Given the description of an element on the screen output the (x, y) to click on. 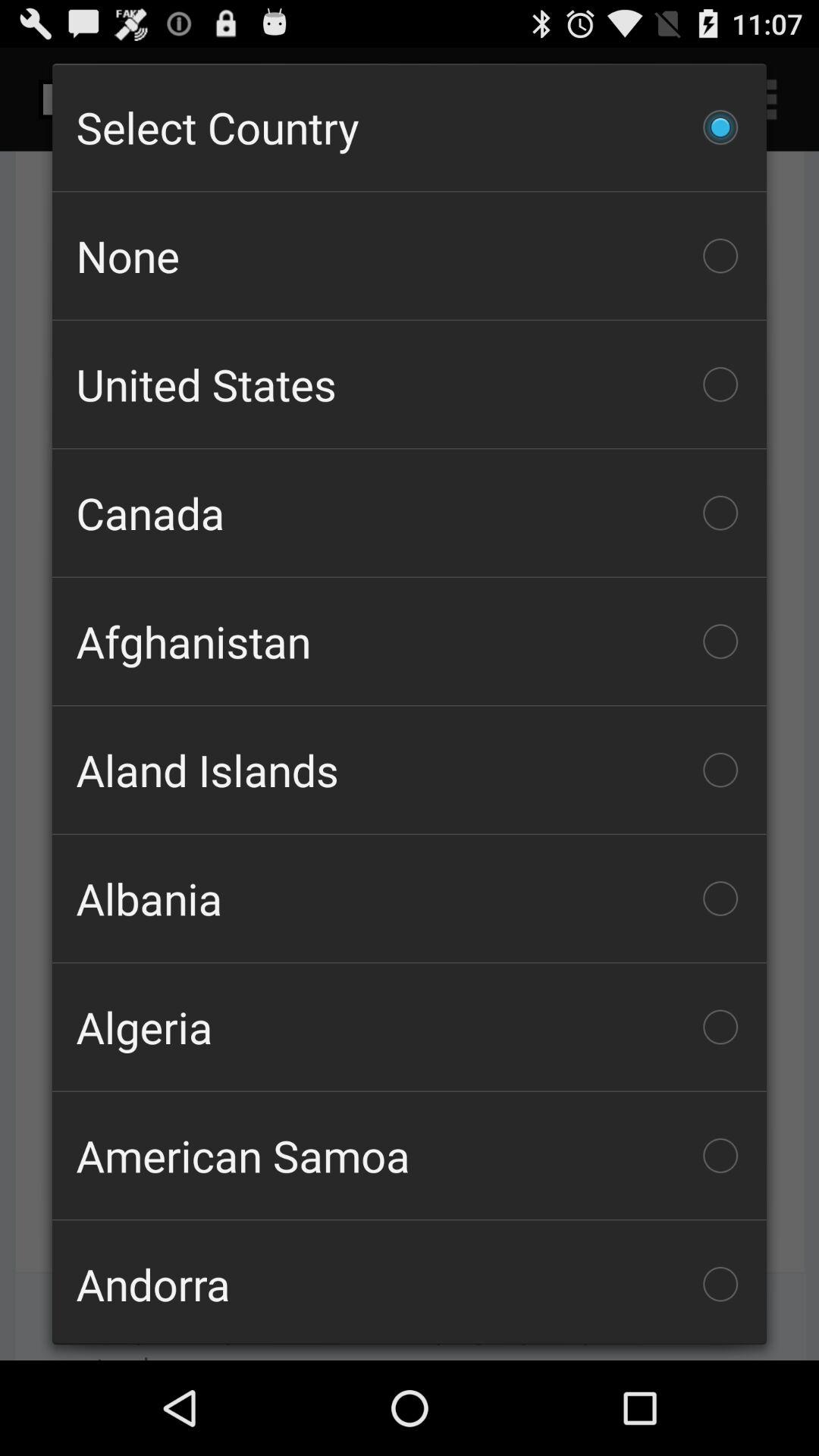
choose the albania (409, 898)
